Given the description of an element on the screen output the (x, y) to click on. 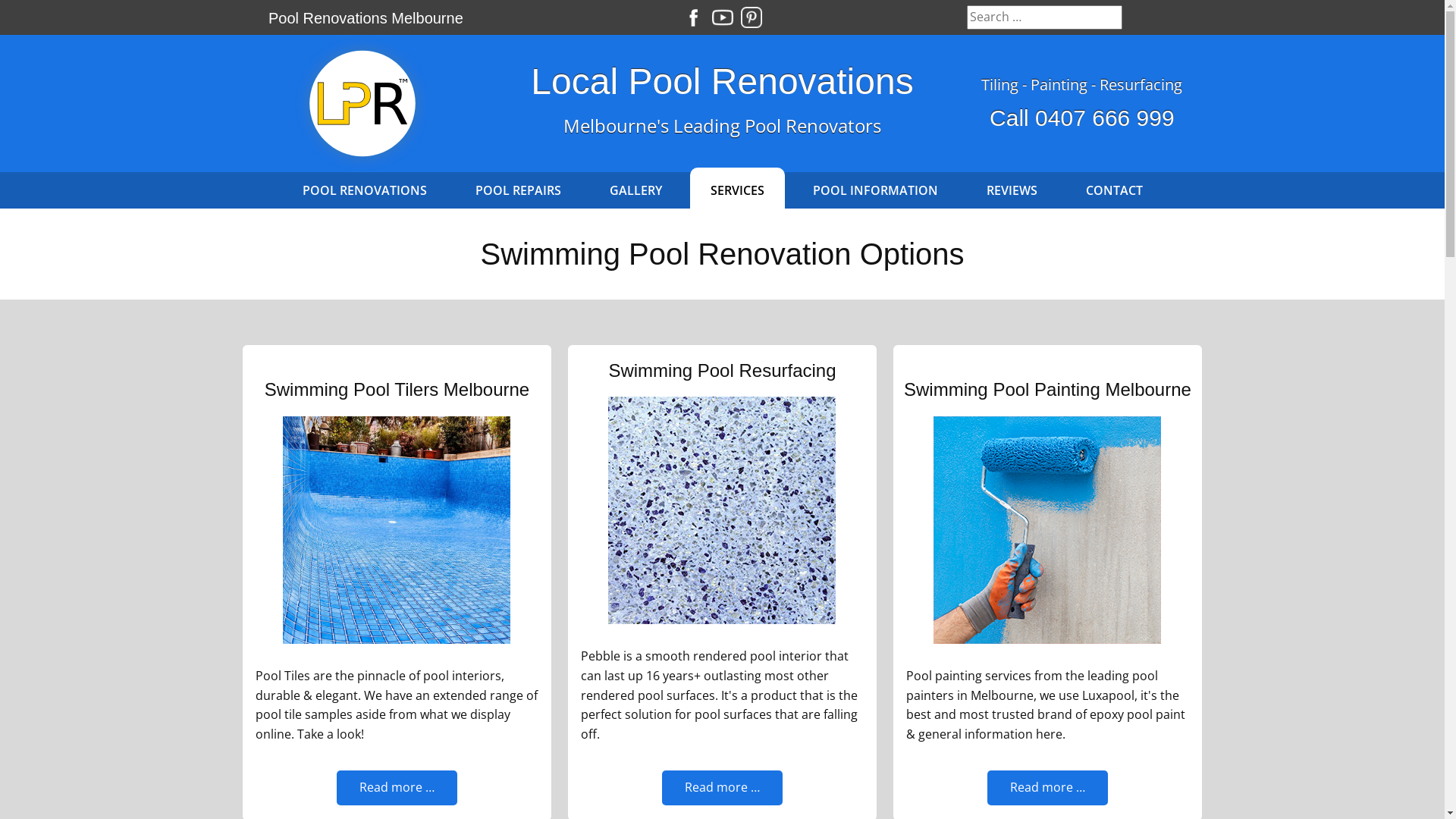
Swimming_pool_Pebble_interior_resurfacing_renovation image Element type: hover (721, 510)
Pinterest Element type: hover (750, 17)
Swimming Pool Tilers Melbourne Element type: text (396, 389)
POOL REPAIRS Element type: text (518, 190)
SERVICES Element type: text (737, 190)
CONTACT Element type: text (1113, 190)
Call 0407 666 999 Element type: text (1081, 117)
POOL RENOVATIONS Element type: text (364, 190)
Tiler-Pool-Swimming-tiled-fully image Element type: hover (396, 529)
GALLERY Element type: text (634, 190)
new-lpr-logo-2 image Element type: hover (362, 103)
YouTube Element type: hover (721, 17)
facebook Element type: hover (692, 17)
Swimming Pool Painting Melbourne Element type: text (1047, 389)
Swimming Pool Resurfacing Element type: text (721, 370)
Swimming_pool_paint_melbourne image Element type: hover (1047, 529)
POOL INFORMATION Element type: text (874, 190)
REVIEWS Element type: text (1011, 190)
